Given the description of an element on the screen output the (x, y) to click on. 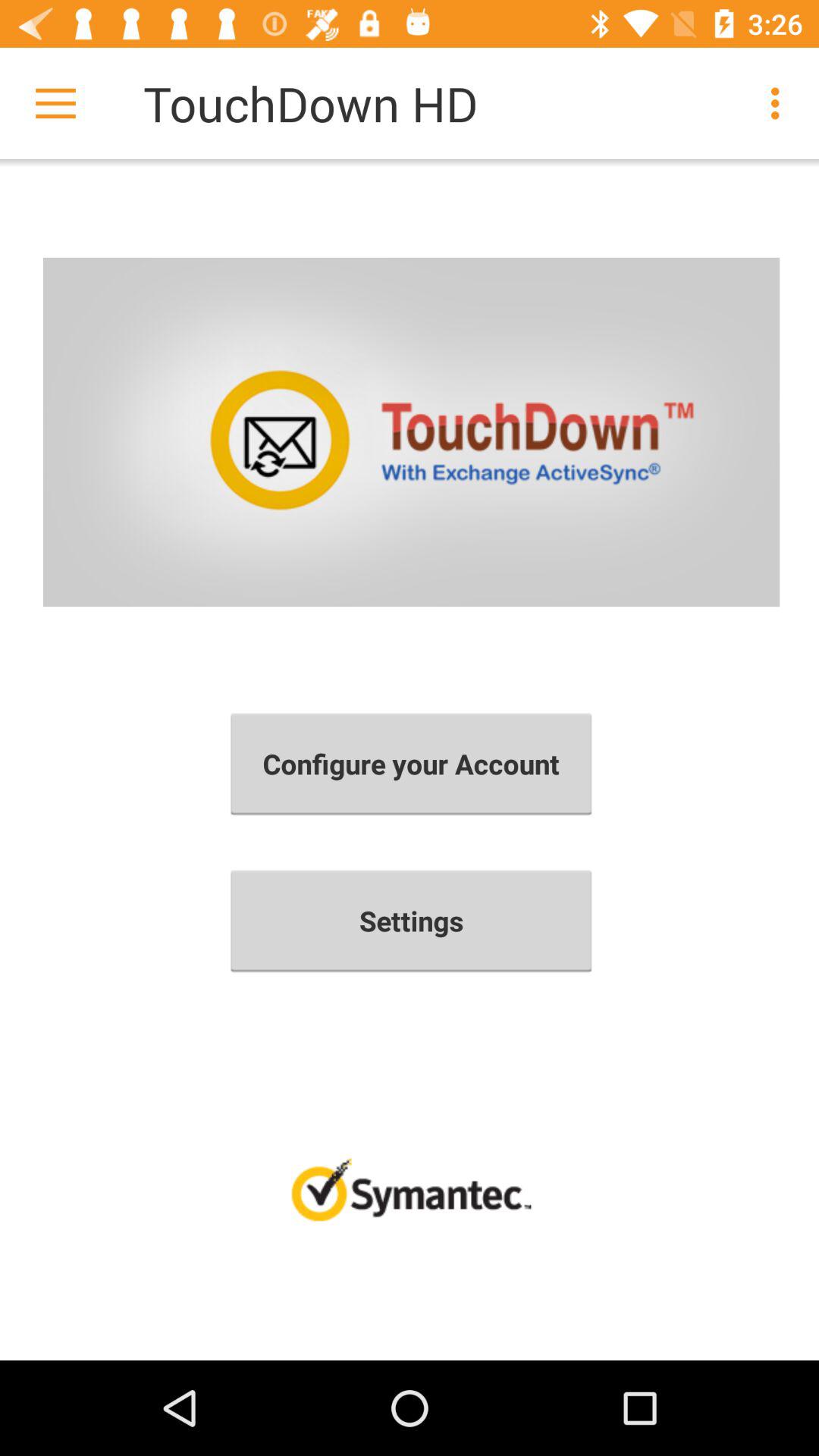
swipe until settings item (410, 920)
